Given the description of an element on the screen output the (x, y) to click on. 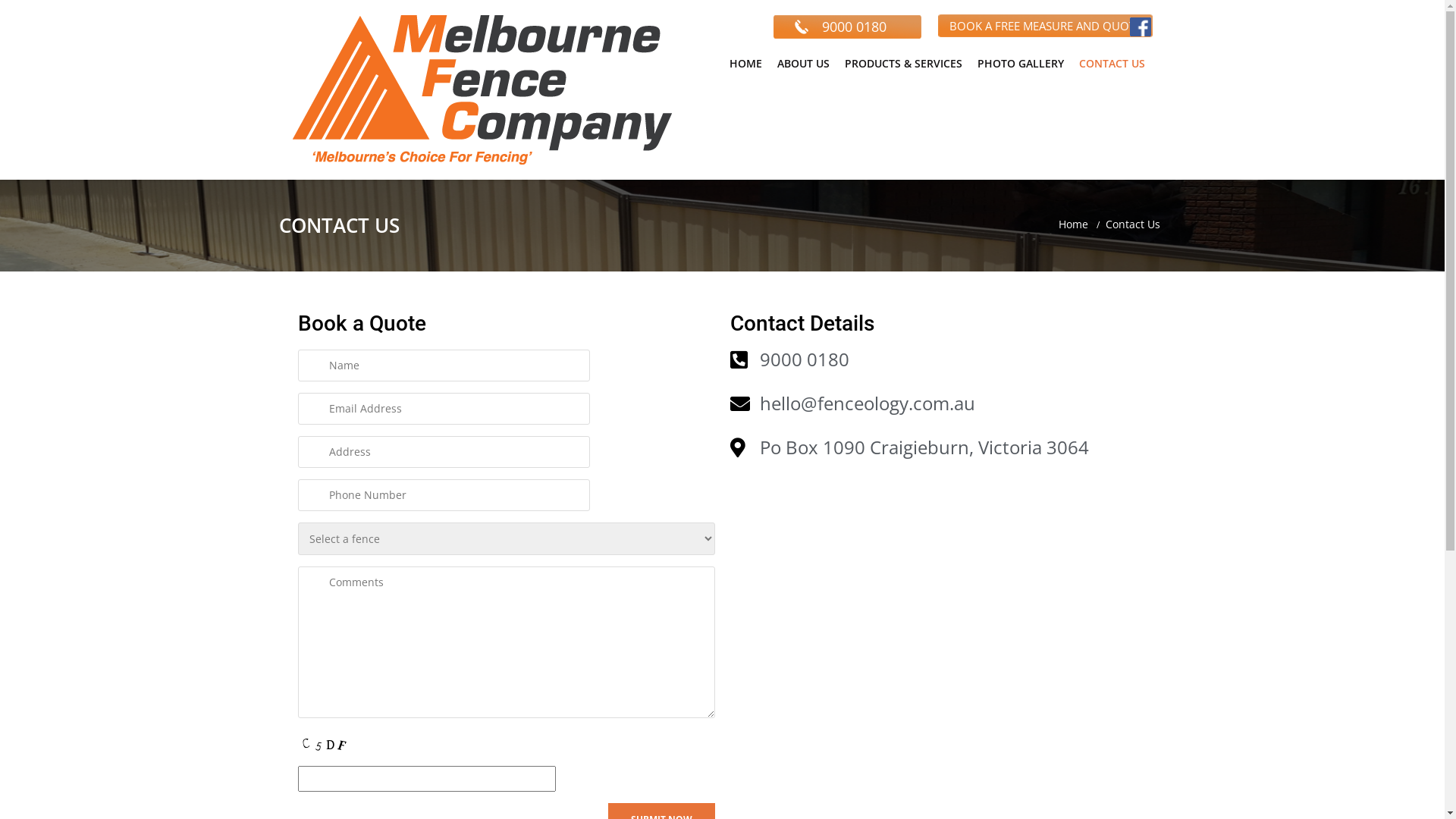
PRODUCTS & SERVICES Element type: text (903, 62)
Home Element type: text (1073, 223)
%3$s Element type: hover (937, 585)
Facebook Element type: hover (1140, 26)
BOOK A FREE MEASURE AND QUOTE Element type: text (1044, 25)
PHOTO GALLERY Element type: text (1019, 62)
9000 0180 Element type: text (854, 26)
HOME Element type: text (745, 62)
ABOUT US Element type: text (802, 62)
Facebook Element type: hover (1140, 33)
CONTACT US Element type: text (1110, 62)
